Given the description of an element on the screen output the (x, y) to click on. 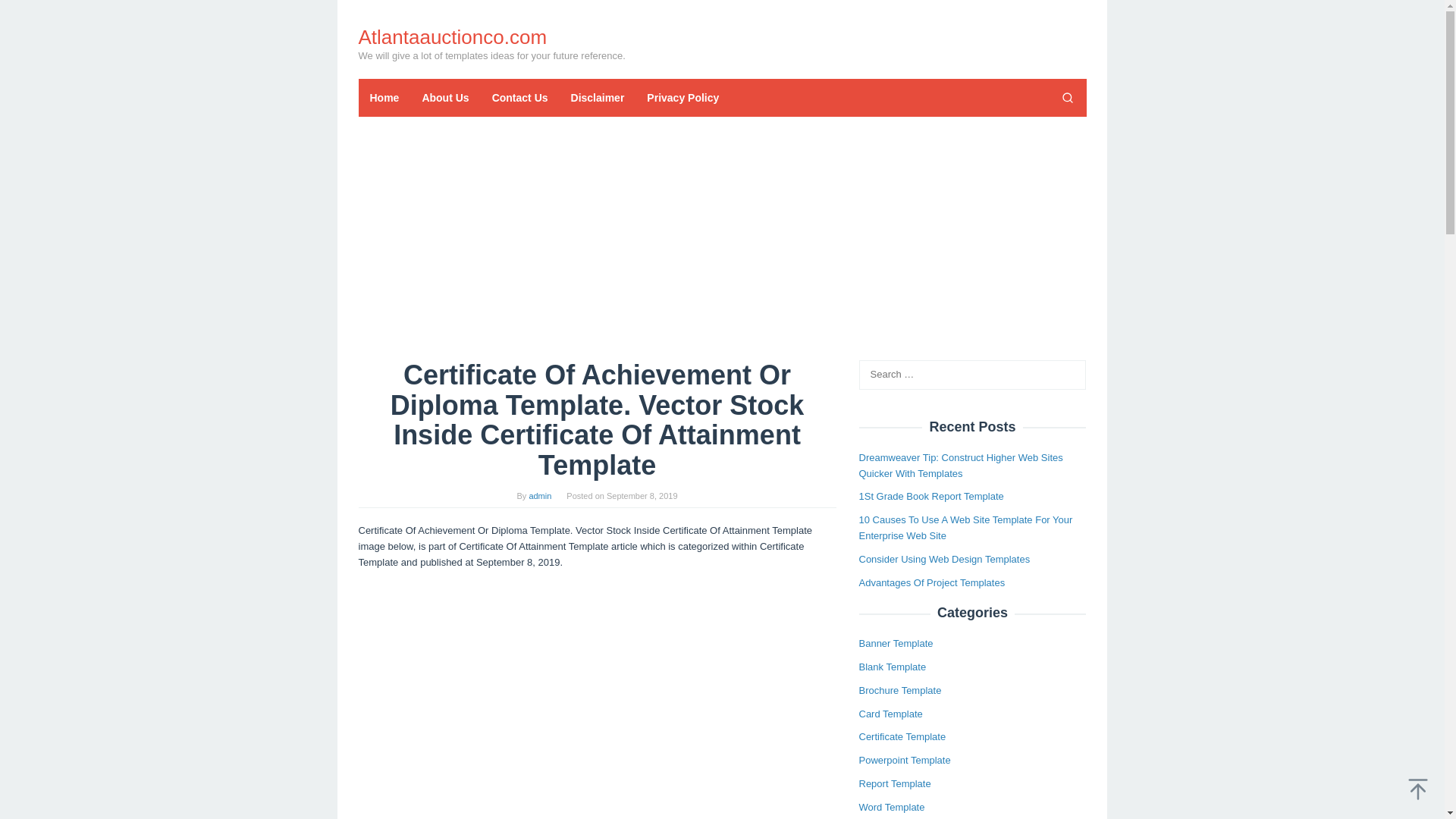
Home (384, 97)
Atlantaauctionco.com (452, 36)
Disclaimer (597, 97)
Permalink to: admin (539, 495)
Advantages Of Project Templates (931, 582)
Contact Us (519, 97)
1St Grade Book Report Template (931, 496)
Advertisement (596, 766)
About Us (445, 97)
